Given the description of an element on the screen output the (x, y) to click on. 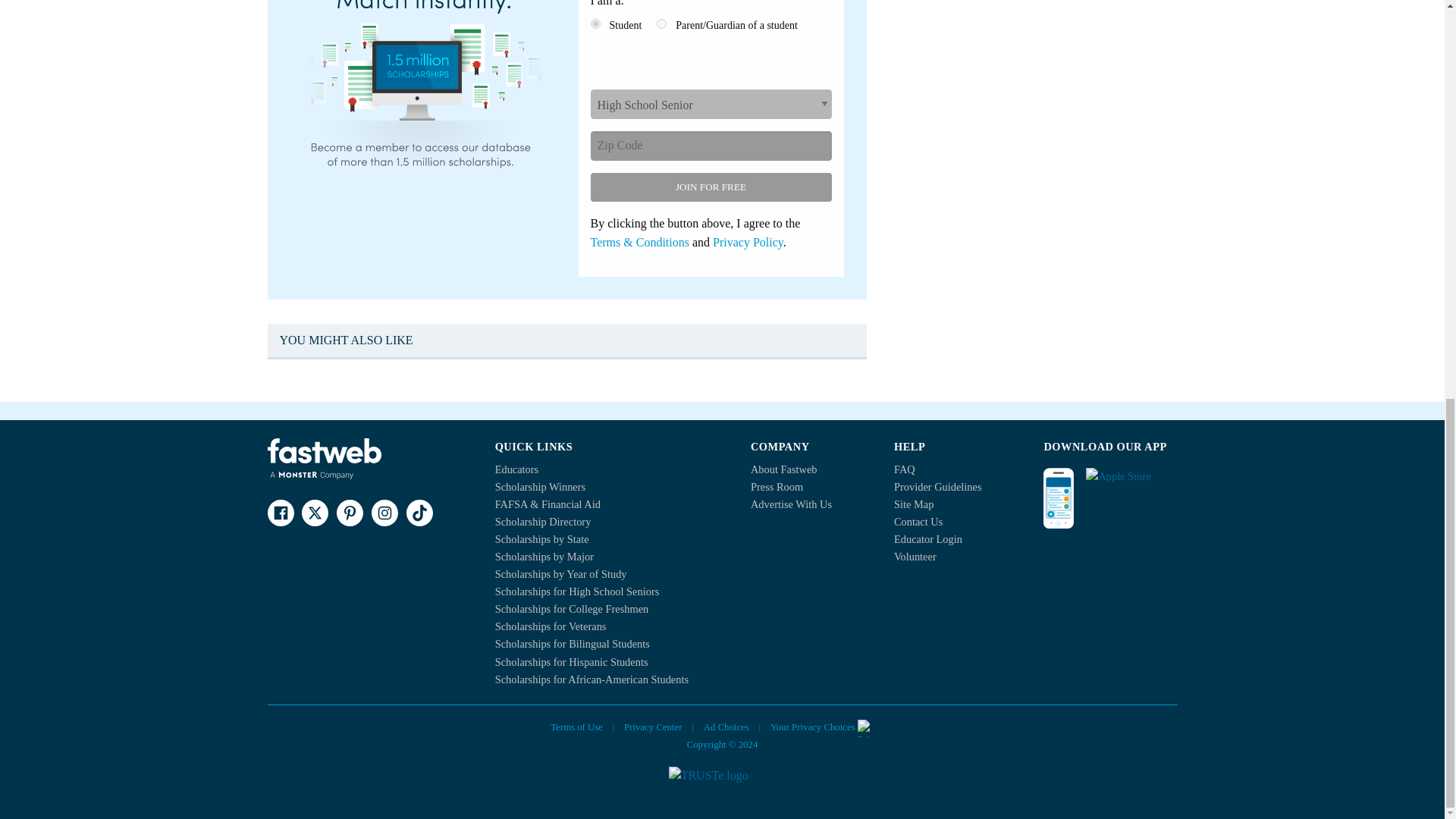
Fastweb on Pinterest (349, 512)
Fastweb on TikTok (419, 512)
Fastweb on Instagram (384, 512)
1 (594, 23)
2 (661, 23)
Join for free (710, 186)
Fastweb on Facebook (280, 512)
Fastweb on IOS (1131, 481)
